Given the description of an element on the screen output the (x, y) to click on. 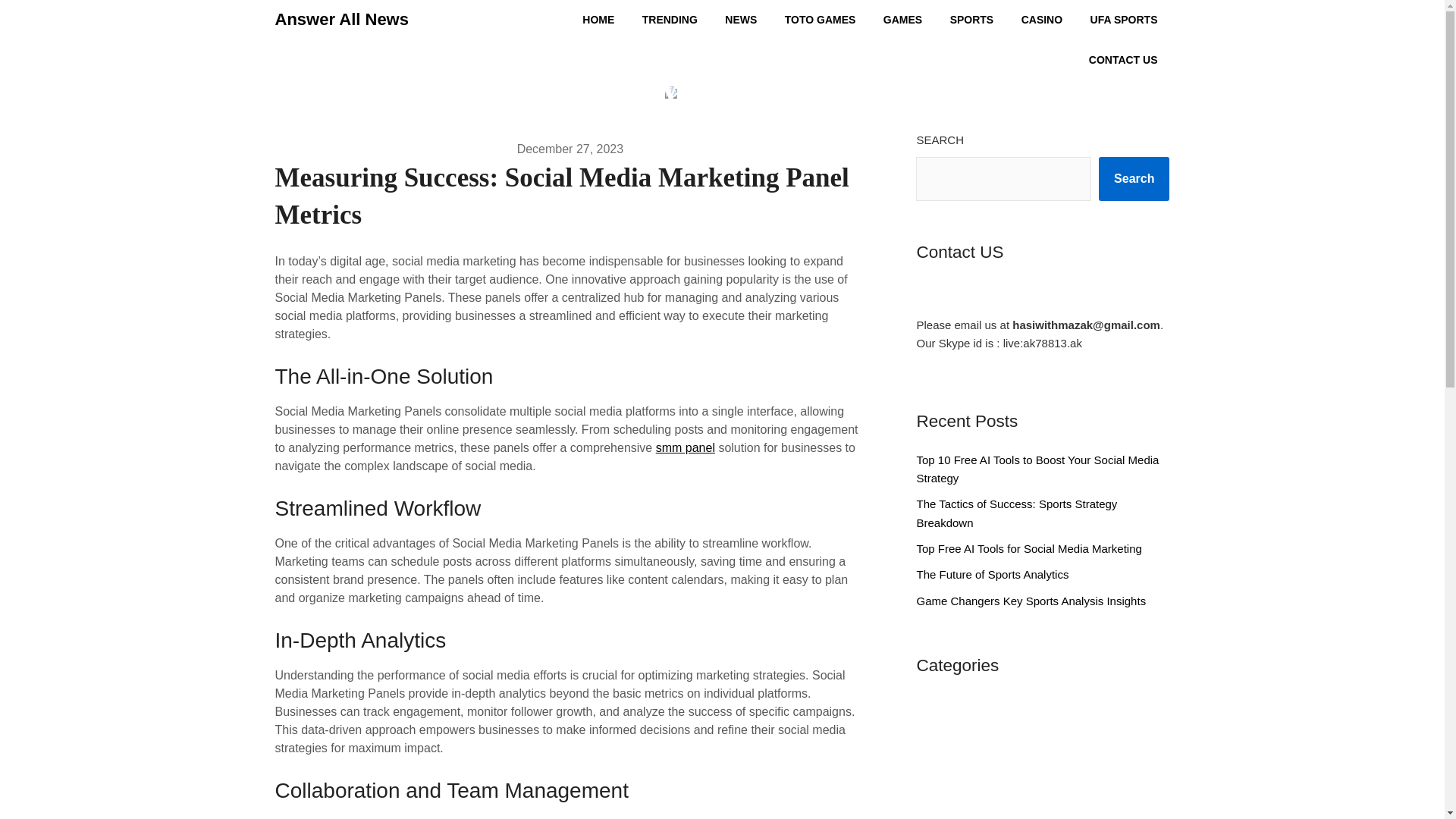
NEWS (740, 20)
Answer All News (341, 19)
December 27, 2023 (570, 148)
GAMES (902, 20)
TRENDING (670, 20)
HOME (598, 20)
CONTACT US (1123, 60)
UFA SPORTS (1124, 20)
The Future of Sports Analytics (991, 574)
CASINO (1041, 20)
TOTO GAMES (820, 20)
The Tactics of Success: Sports Strategy Breakdown (1015, 512)
Top 10 Free AI Tools to Boost Your Social Media Strategy (1036, 468)
SPORTS (971, 20)
Top Free AI Tools for Social Media Marketing (1028, 548)
